Given the description of an element on the screen output the (x, y) to click on. 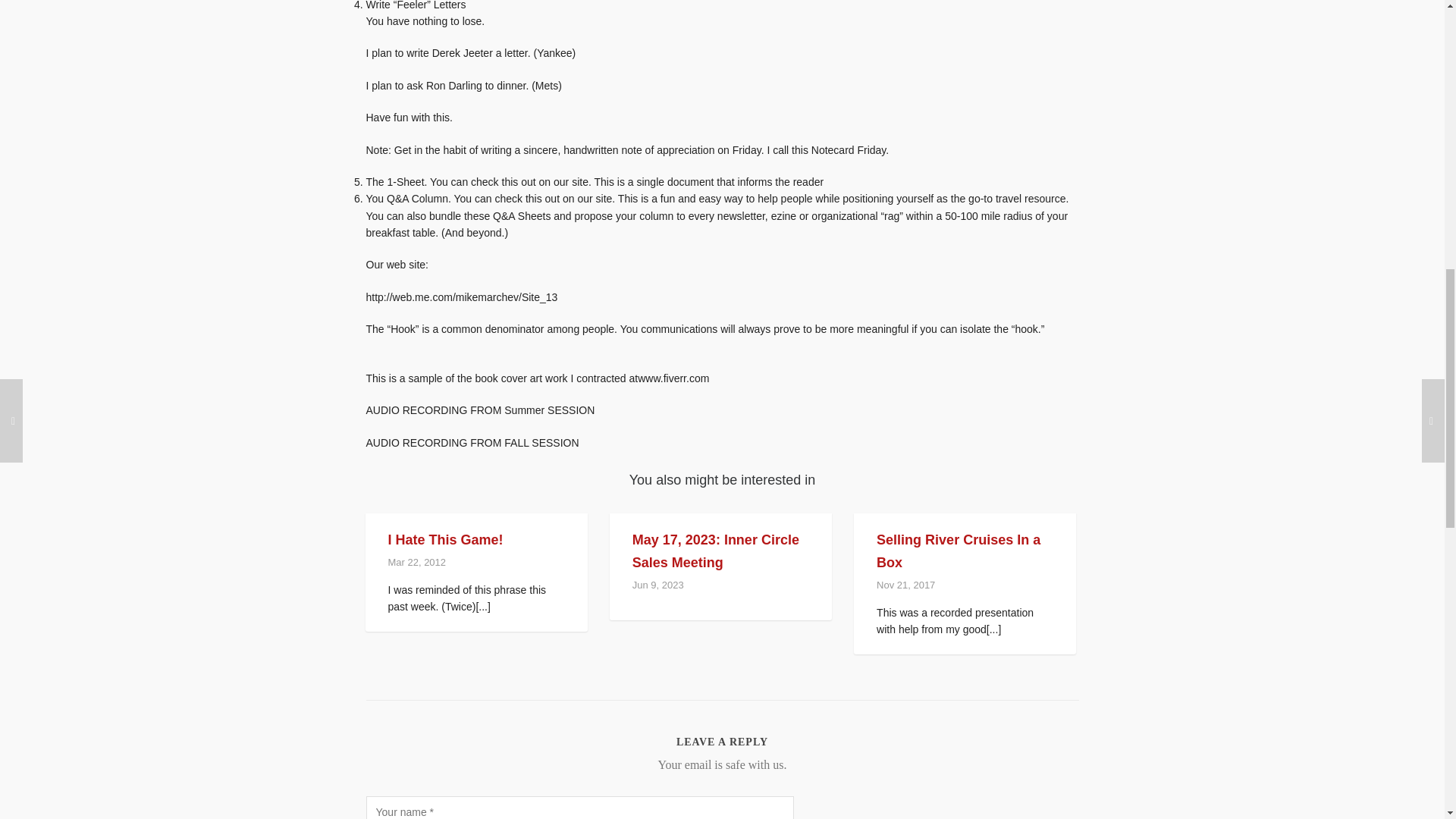
May 17, 2023: Inner Circle Sales Meeting (715, 551)
Selling River Cruises In a Box (958, 551)
I Hate This Game! (445, 539)
www.fiverr.com (673, 378)
